Given the description of an element on the screen output the (x, y) to click on. 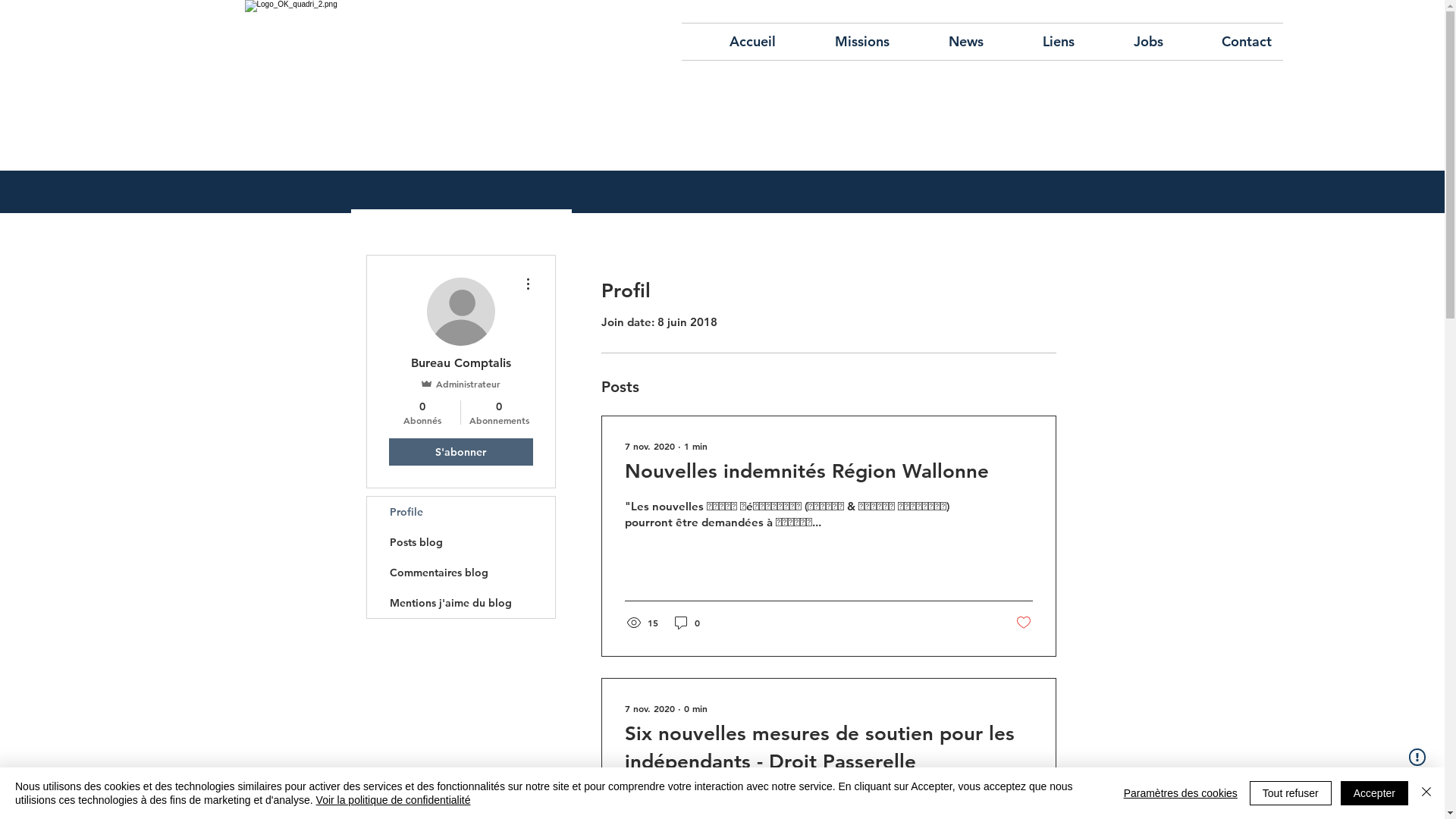
Jobs Element type: text (1129, 41)
Liens Element type: text (1039, 41)
Contact Element type: text (1227, 41)
Accueil Element type: text (733, 41)
Posts blog Element type: text (461, 542)
Profile Element type: text (461, 511)
Commentaires blog Element type: text (461, 572)
Tout refuser Element type: text (1290, 793)
0
Abonnements Element type: text (499, 412)
Missions Element type: text (843, 41)
News Element type: text (947, 41)
Accepter Element type: text (1374, 793)
Mentions j'aime du blog Element type: text (461, 602)
S'abonner Element type: text (460, 451)
